Given the description of an element on the screen output the (x, y) to click on. 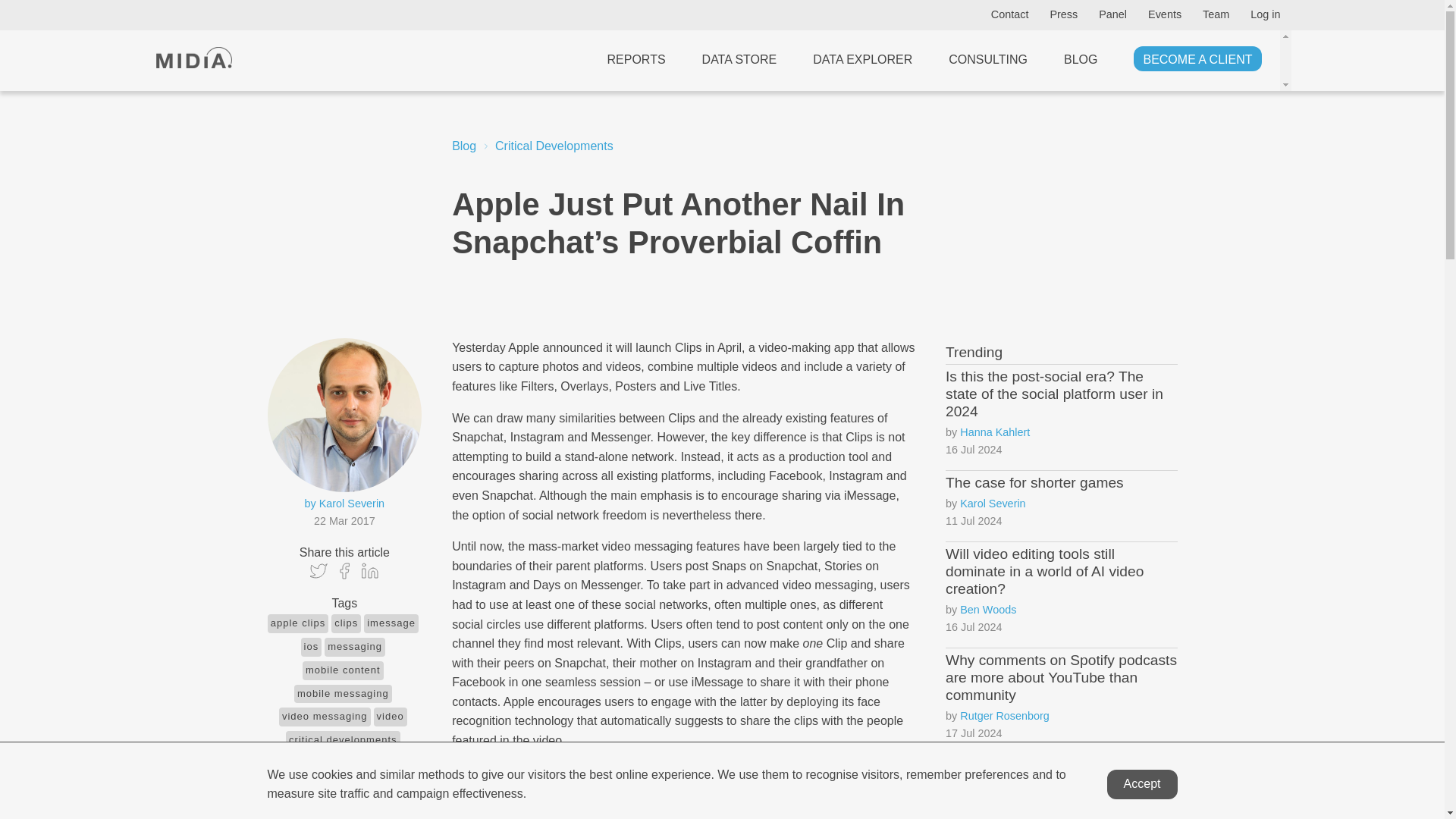
clips (346, 623)
apple clips (298, 623)
by Karol Severin (344, 503)
critical developments (341, 740)
facebook (315, 791)
Critical Developments (553, 145)
Team (1216, 14)
DATA STORE (739, 55)
imessage (391, 623)
Contact (1009, 14)
Log in (1265, 14)
BECOME A CLIENT (1197, 55)
snapchat (369, 791)
Press (1063, 14)
mobile messaging (342, 693)
